Given the description of an element on the screen output the (x, y) to click on. 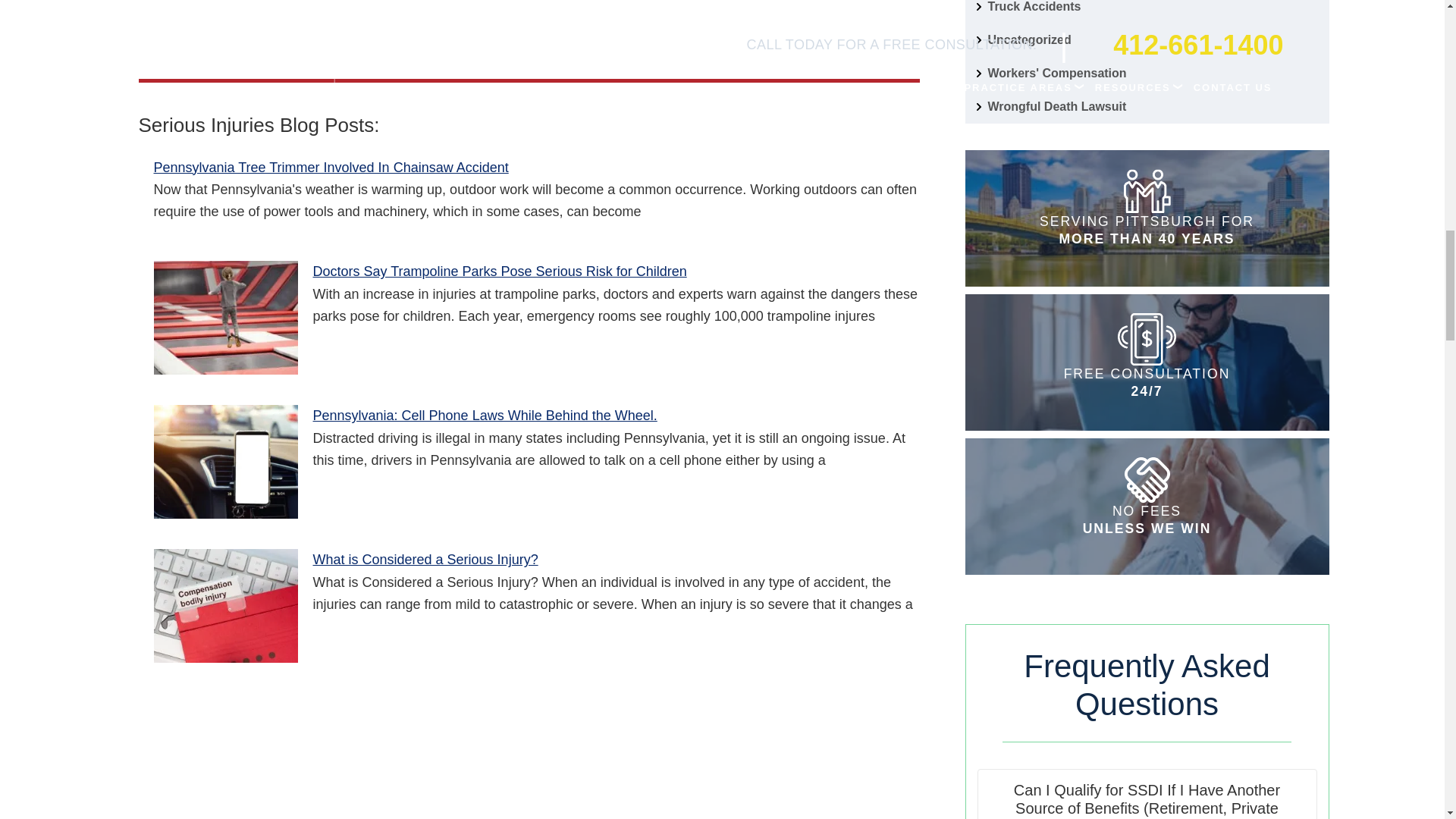
What is Considered a Serious Injury? (224, 605)
Doctors Say Trampoline Parks Pose Serious Risk for Children (224, 317)
Pennsylvania: Cell Phone Laws While Behind the Wheel. (224, 461)
